Given the description of an element on the screen output the (x, y) to click on. 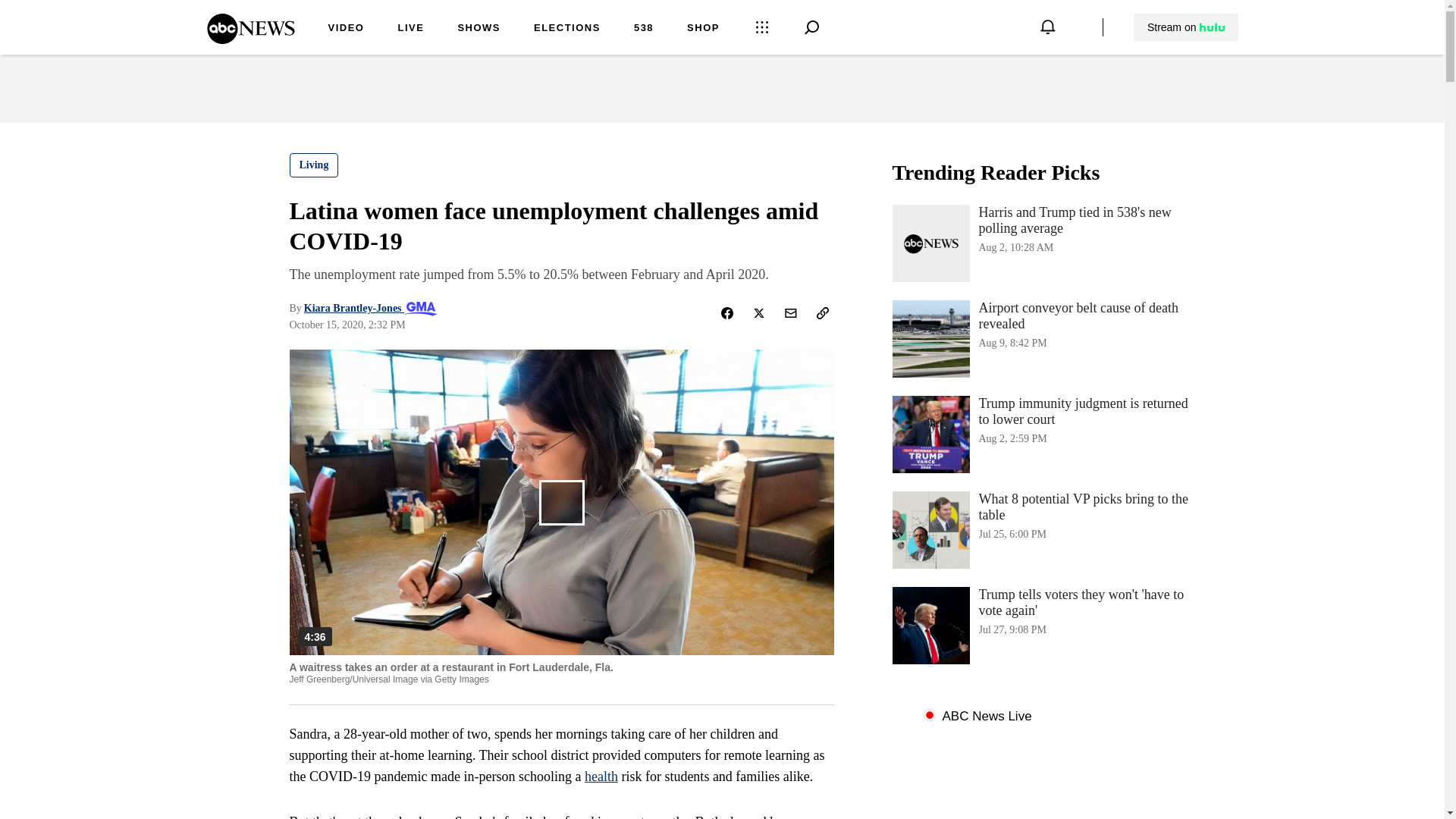
ELECTIONS (566, 28)
SHOP (703, 28)
VIDEO (345, 28)
ABC News (250, 38)
SHOWS (1043, 338)
Living (478, 28)
Stream on (314, 165)
